Given the description of an element on the screen output the (x, y) to click on. 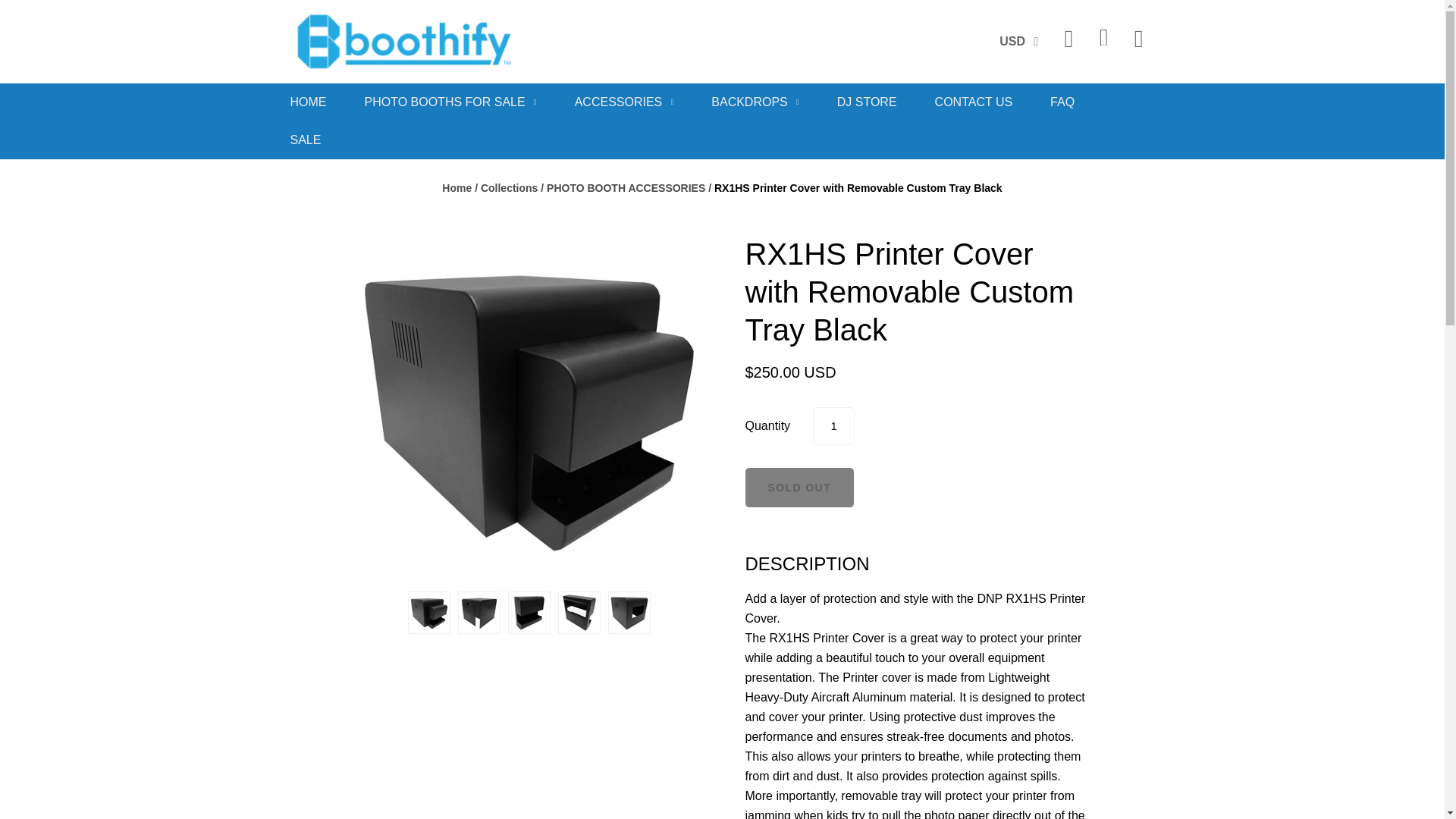
1 (833, 426)
FAQ (1061, 101)
DJ STORE (866, 101)
HOME (307, 101)
CONTACT US (973, 101)
Sold out (798, 486)
BACKDROPS (754, 102)
PHOTO BOOTHS FOR SALE (449, 102)
SALE (304, 139)
ACCESSORIES (624, 102)
